Given the description of an element on the screen output the (x, y) to click on. 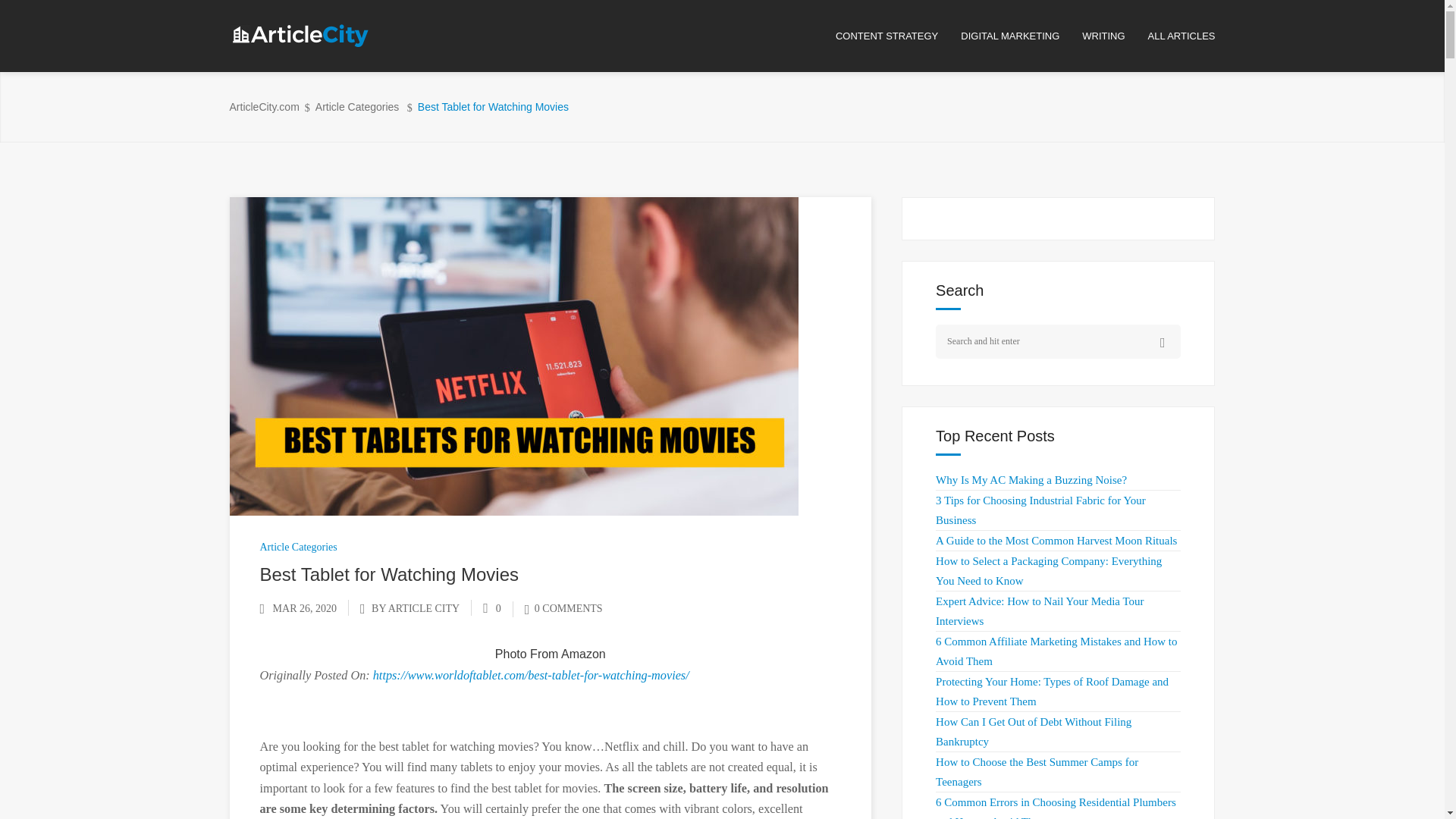
ArticleCity.com (263, 107)
Photo (511, 653)
DIGITAL MARKETING (1020, 36)
Like this (491, 608)
BY ARTICLE CITY (415, 608)
0 (491, 608)
0 COMMENTS (563, 608)
WRITING (1114, 36)
Article Categories (356, 107)
Article Categories (297, 546)
